Given the description of an element on the screen output the (x, y) to click on. 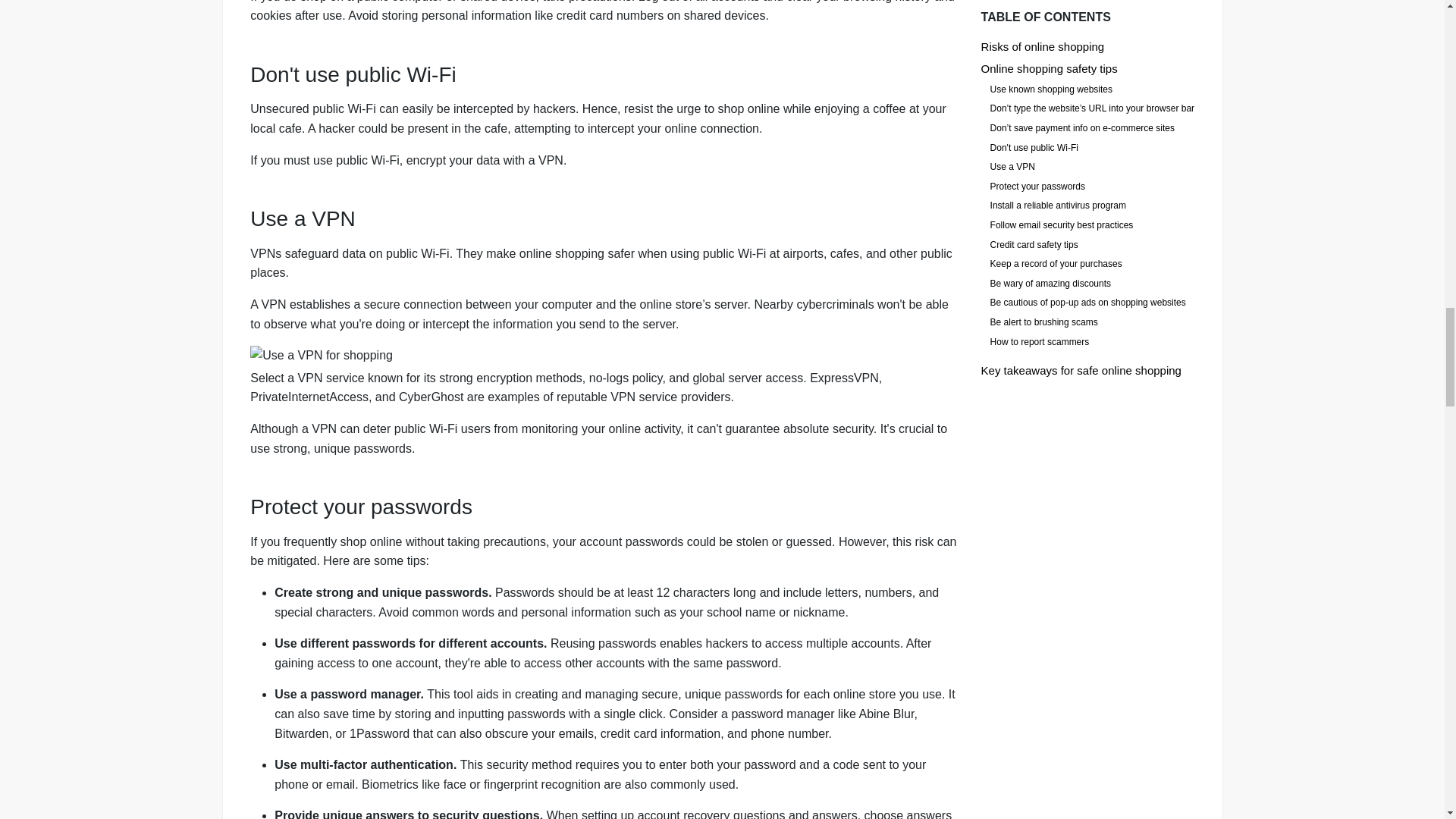
Use a VPN for shopping (604, 355)
